Given the description of an element on the screen output the (x, y) to click on. 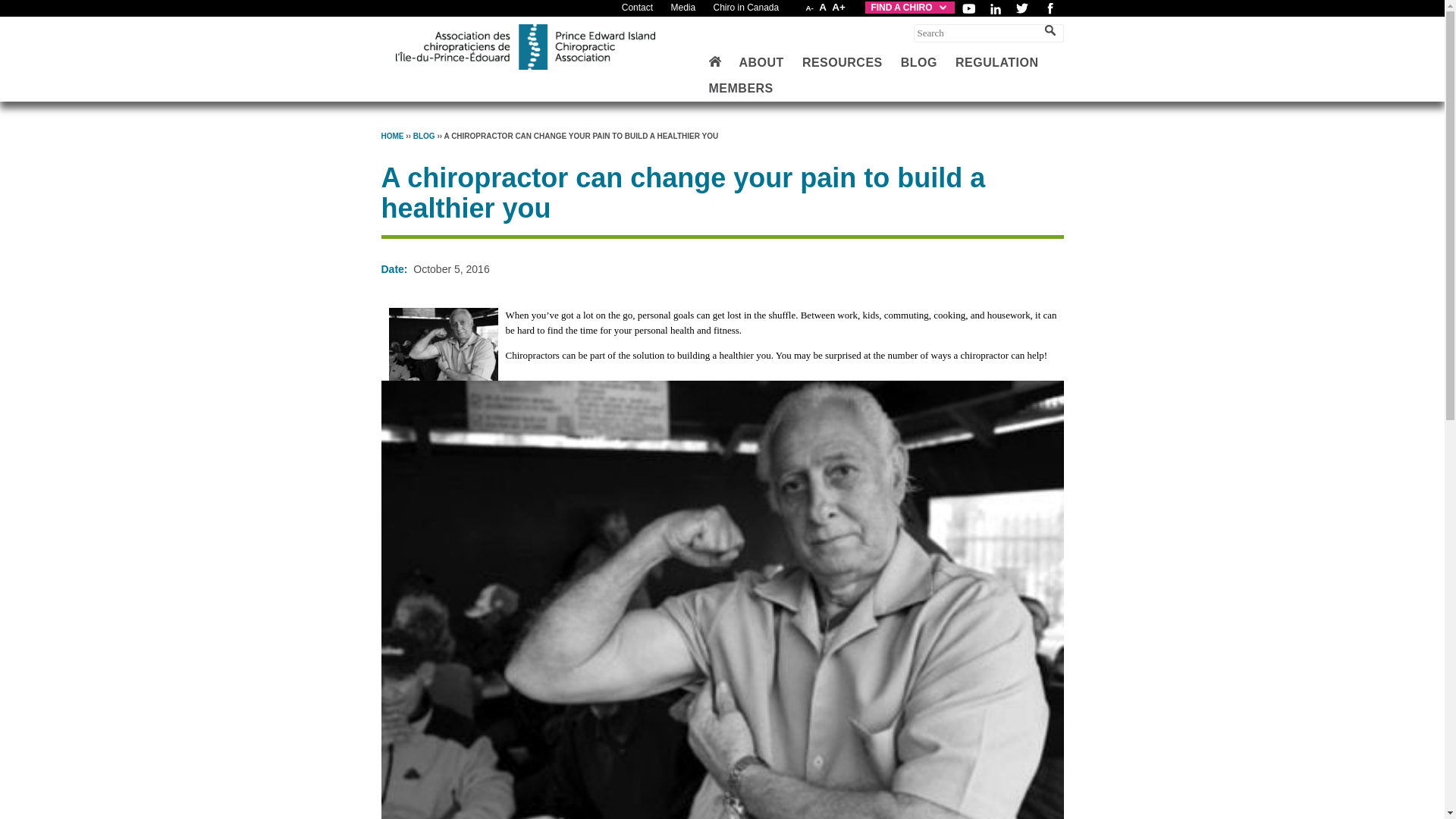
Blog (424, 135)
A- (810, 7)
Contact (636, 7)
FIND A CHIRO (908, 7)
Media (682, 7)
A (822, 7)
Chiro in Canada (745, 7)
